Given the description of an element on the screen output the (x, y) to click on. 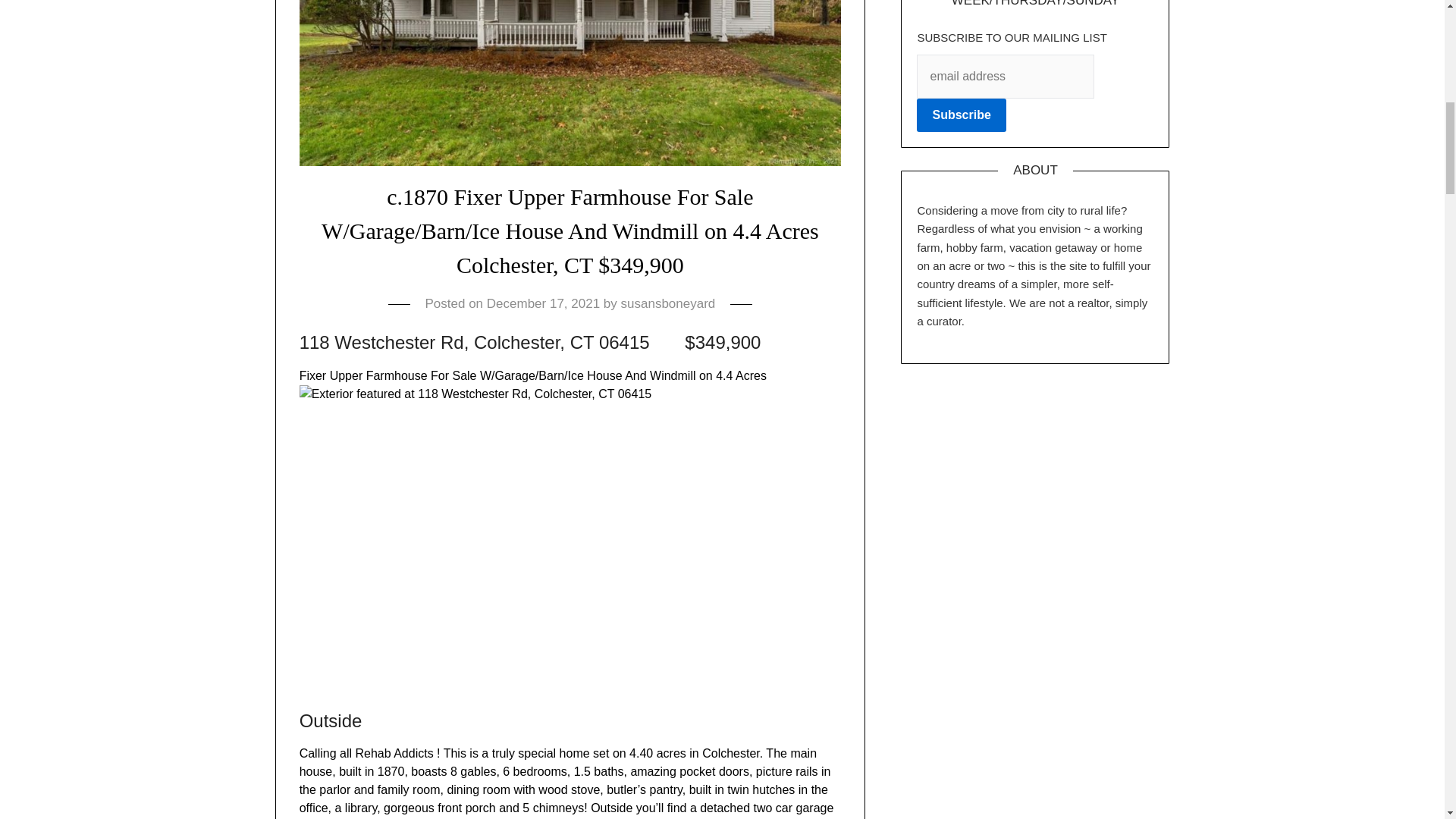
susansboneyard (668, 303)
December 17, 2021 (542, 303)
Subscribe (961, 114)
